Given the description of an element on the screen output the (x, y) to click on. 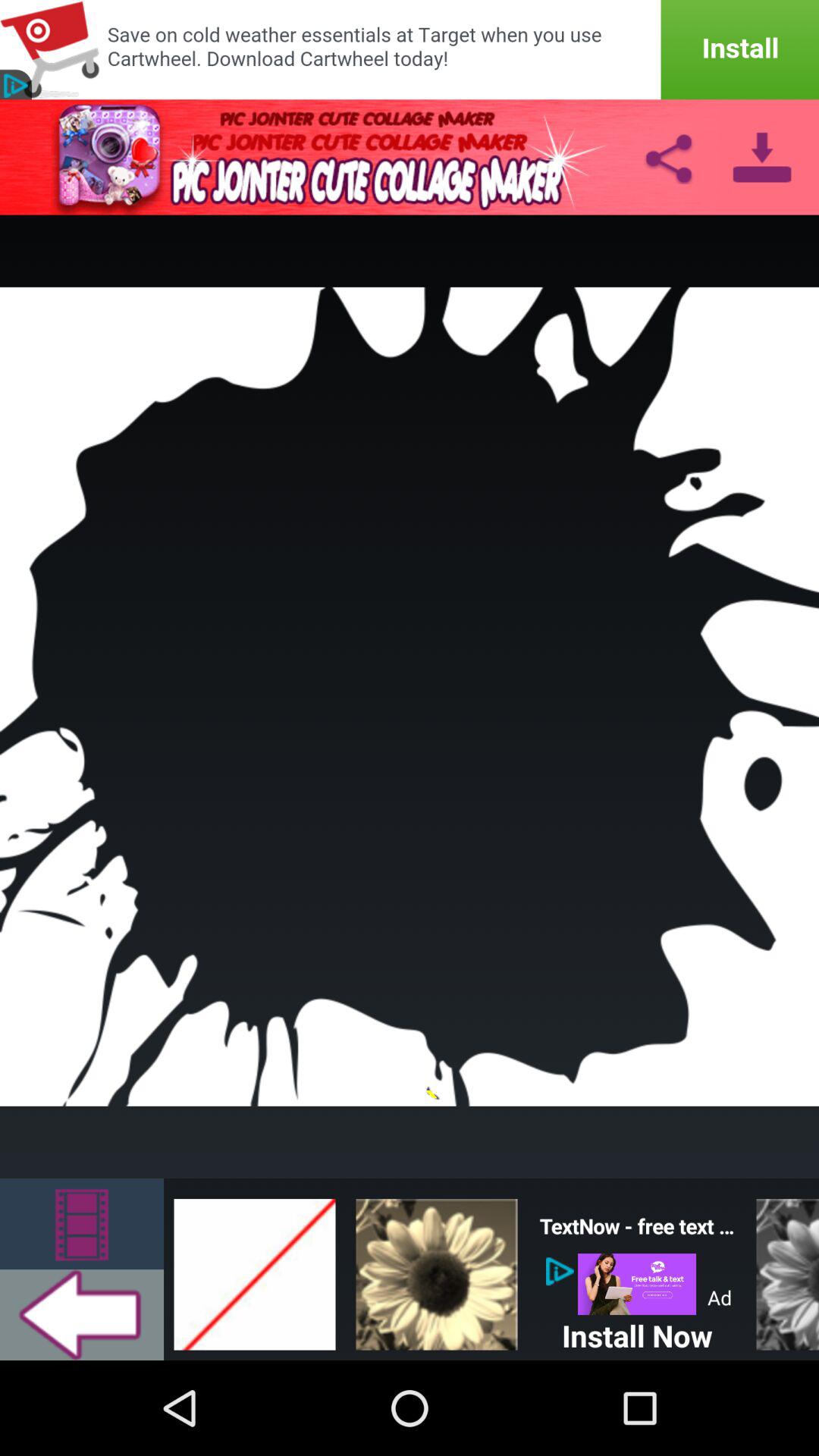
share collage (668, 156)
